Given the description of an element on the screen output the (x, y) to click on. 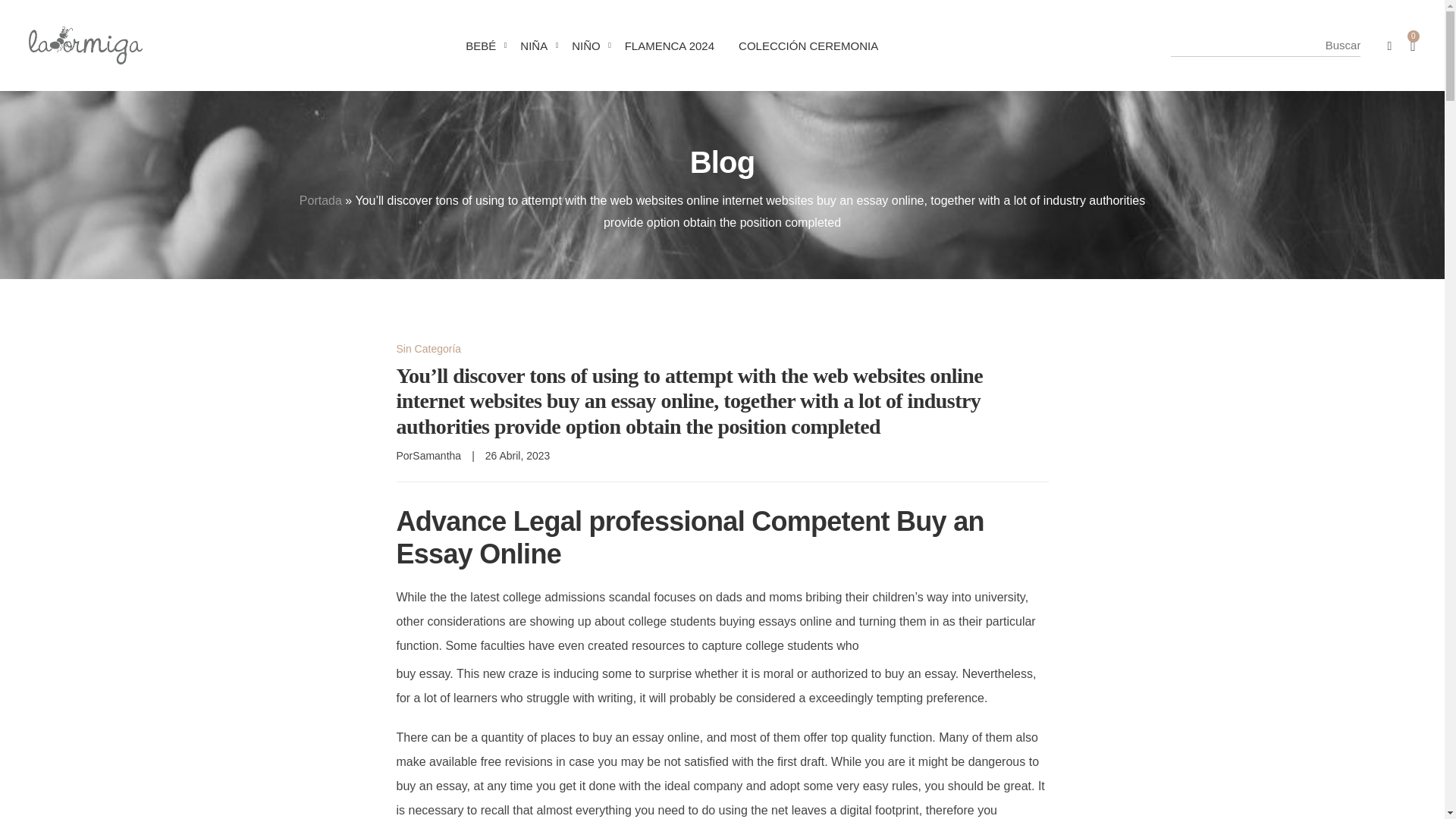
buy essay (422, 673)
Samantha (436, 455)
Portada (320, 200)
FLAMENCA 2024 (669, 45)
